Given the description of an element on the screen output the (x, y) to click on. 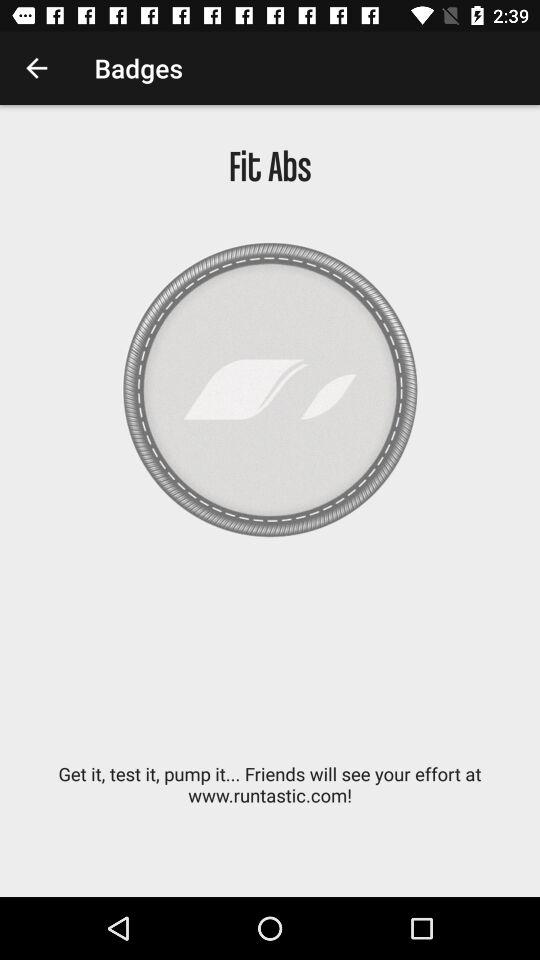
select get it test item (270, 795)
